Given the description of an element on the screen output the (x, y) to click on. 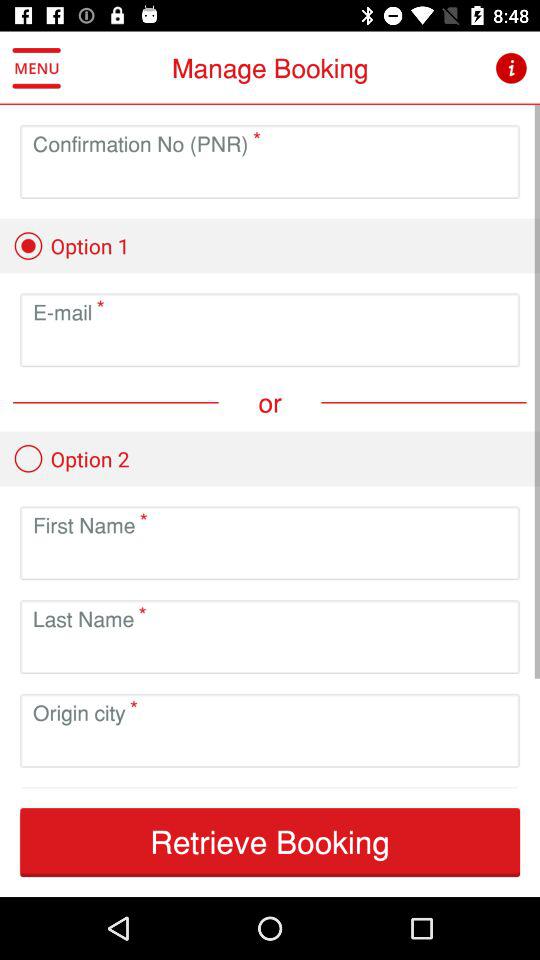
origin city space (270, 746)
